Given the description of an element on the screen output the (x, y) to click on. 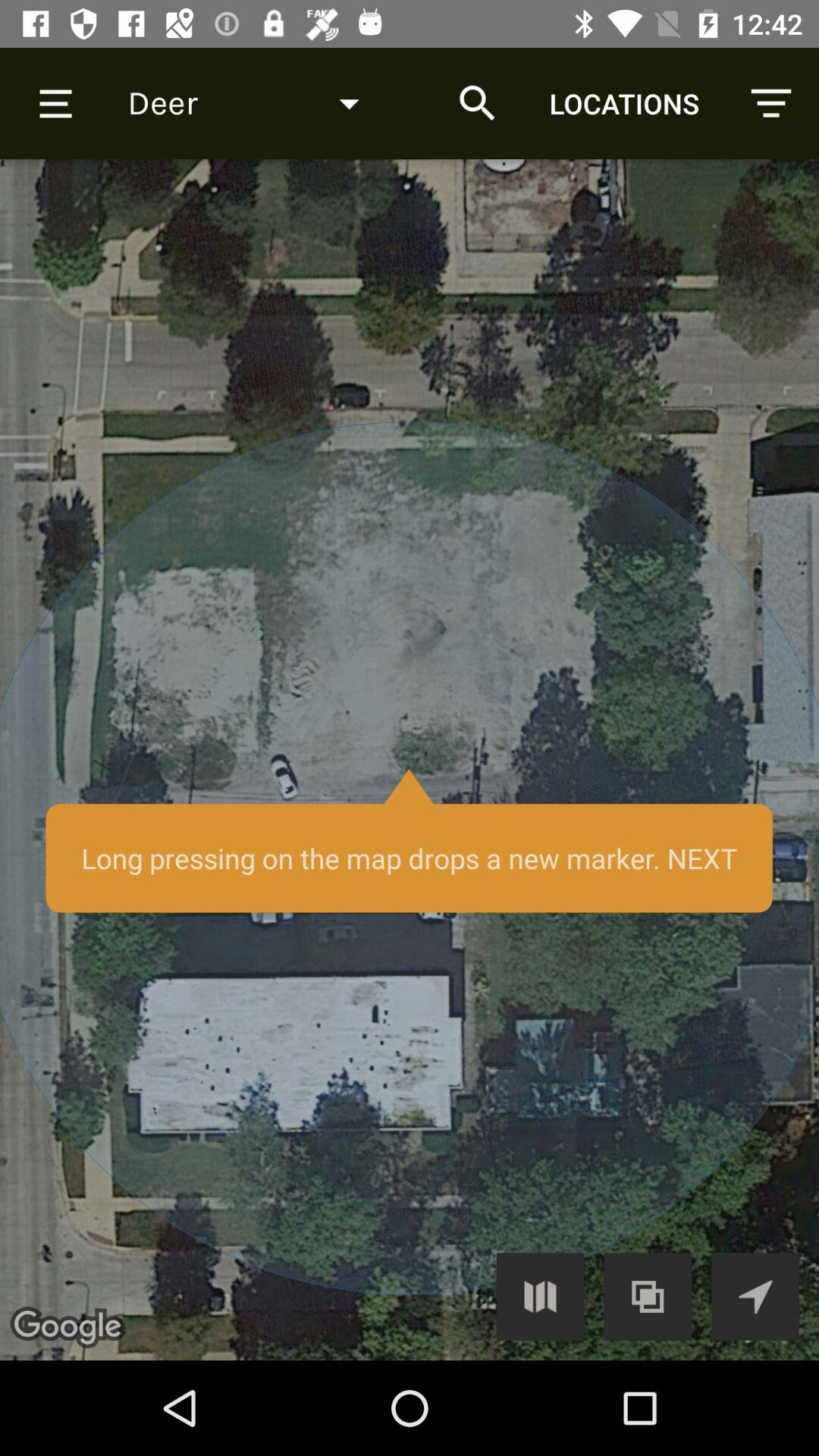
pop out map (647, 1296)
